Given the description of an element on the screen output the (x, y) to click on. 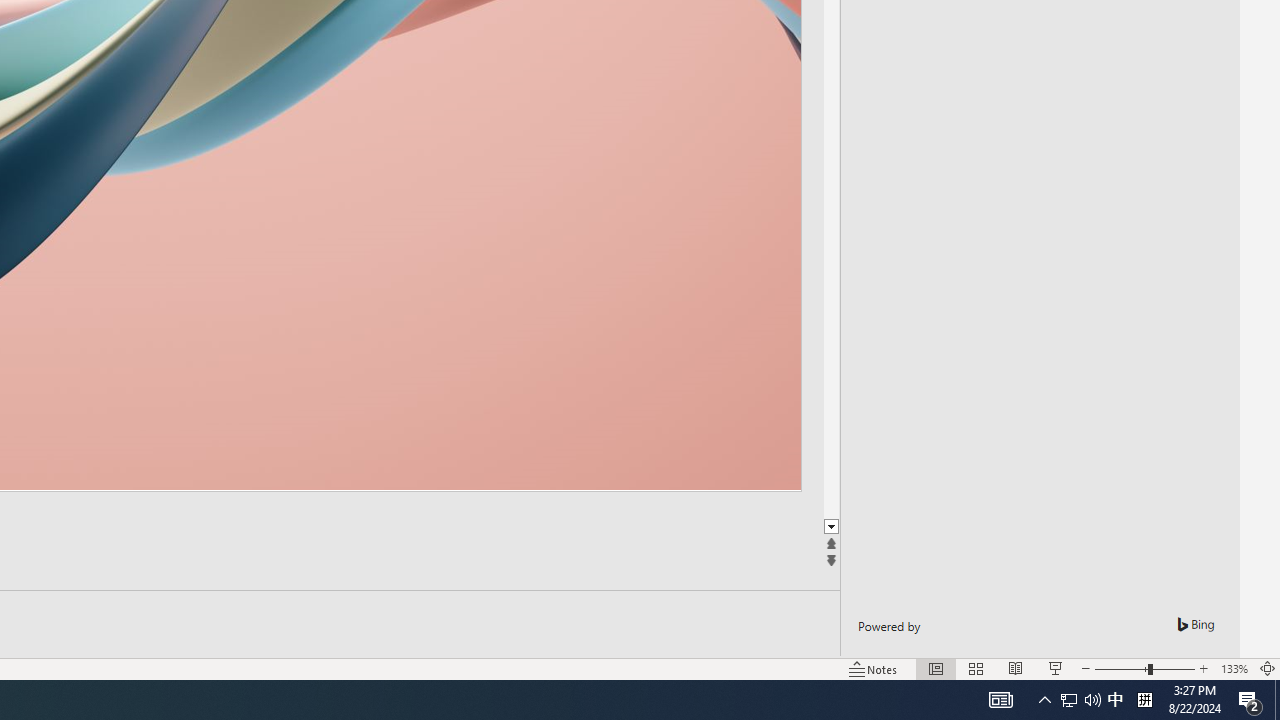
Zoom 133% (1234, 668)
